Given the description of an element on the screen output the (x, y) to click on. 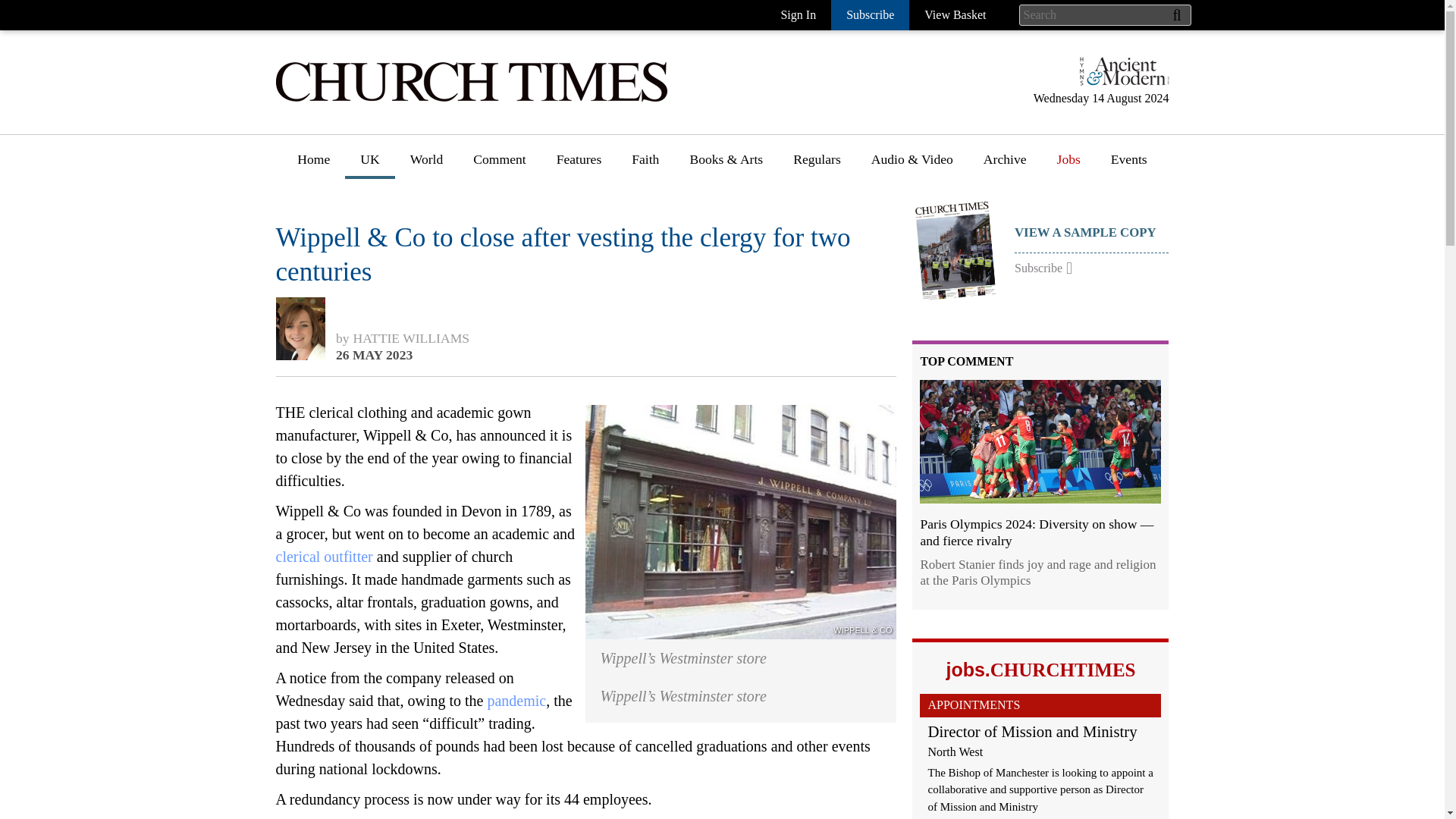
Home (313, 164)
Faith features (668, 232)
Faith (644, 164)
Film (702, 371)
Columnists (504, 260)
TV (698, 399)
Comment (499, 164)
Radio (705, 428)
Opinion (495, 204)
World (426, 164)
